Given the description of an element on the screen output the (x, y) to click on. 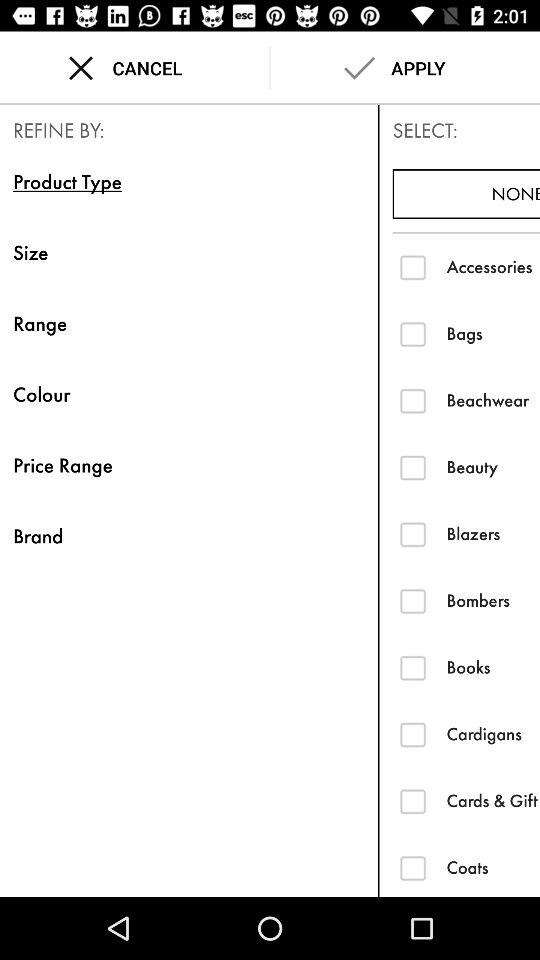
click the item above books icon (493, 600)
